Given the description of an element on the screen output the (x, y) to click on. 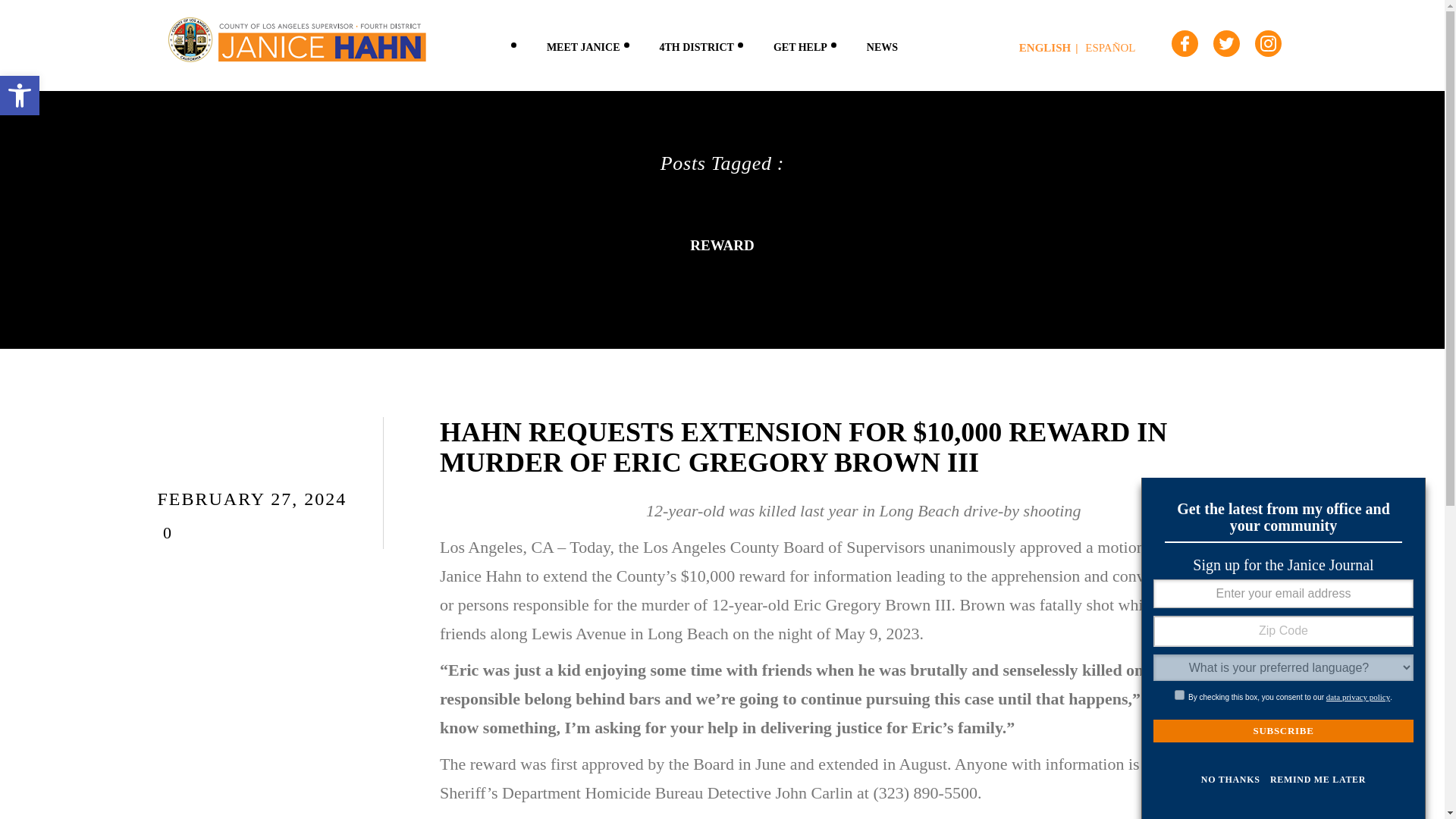
ENGLISH (1051, 47)
Enter your email address (19, 95)
HAYLEY MUNGUIA (1283, 593)
MEET JANICE (243, 465)
GET HELP (583, 44)
Posts by Hayley Munguia (800, 44)
Accessibility Tools (243, 465)
Subscribe (19, 95)
on (1283, 730)
4TH DISTRICT (1179, 695)
Accessibility Tools (697, 44)
NEWS (19, 95)
